Given the description of an element on the screen output the (x, y) to click on. 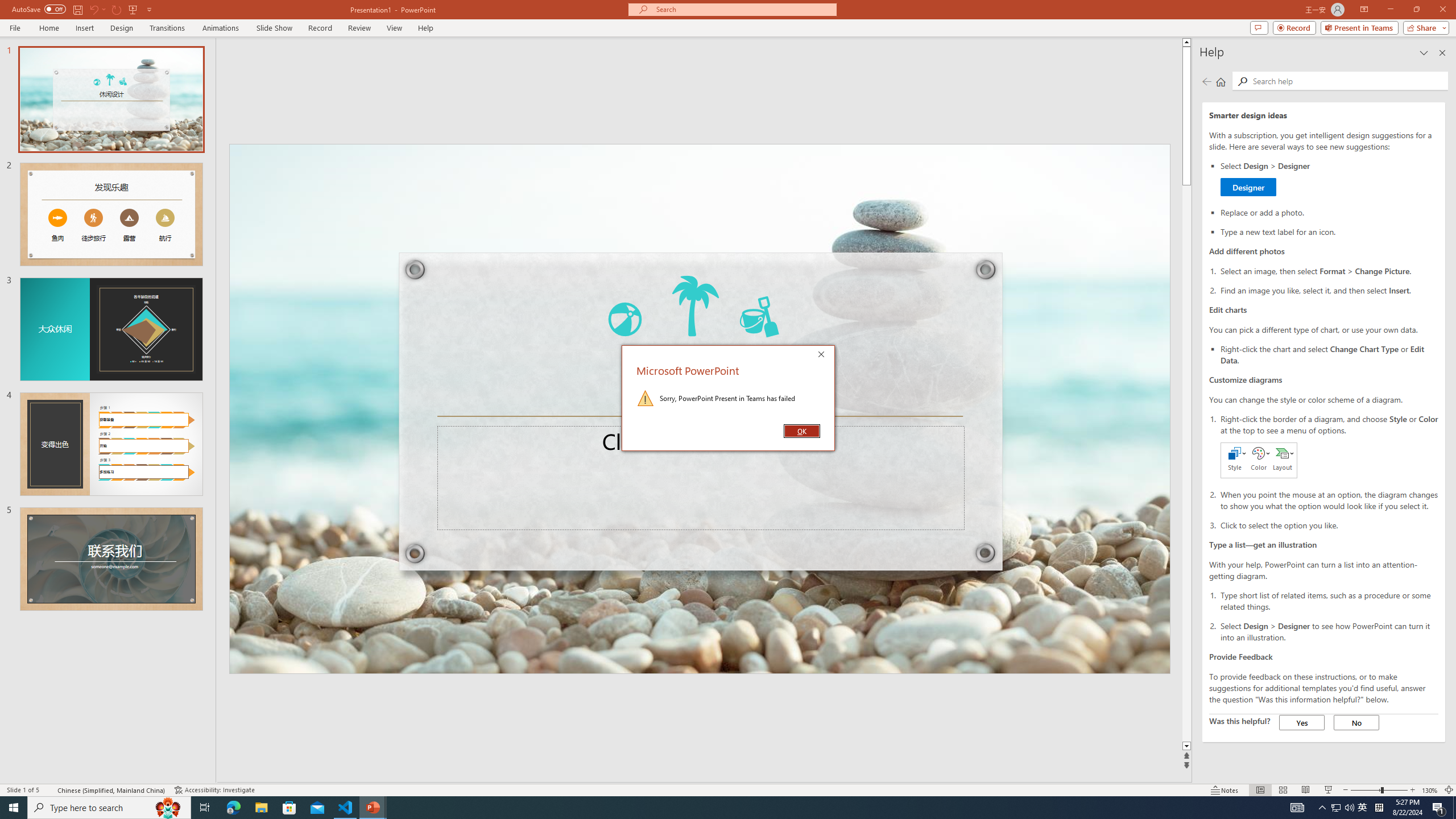
Spell Check  (49, 790)
OK (801, 431)
Click to select the option you like. (1329, 524)
Select an image, then select Format > Change Picture. (1329, 270)
